Given the description of an element on the screen output the (x, y) to click on. 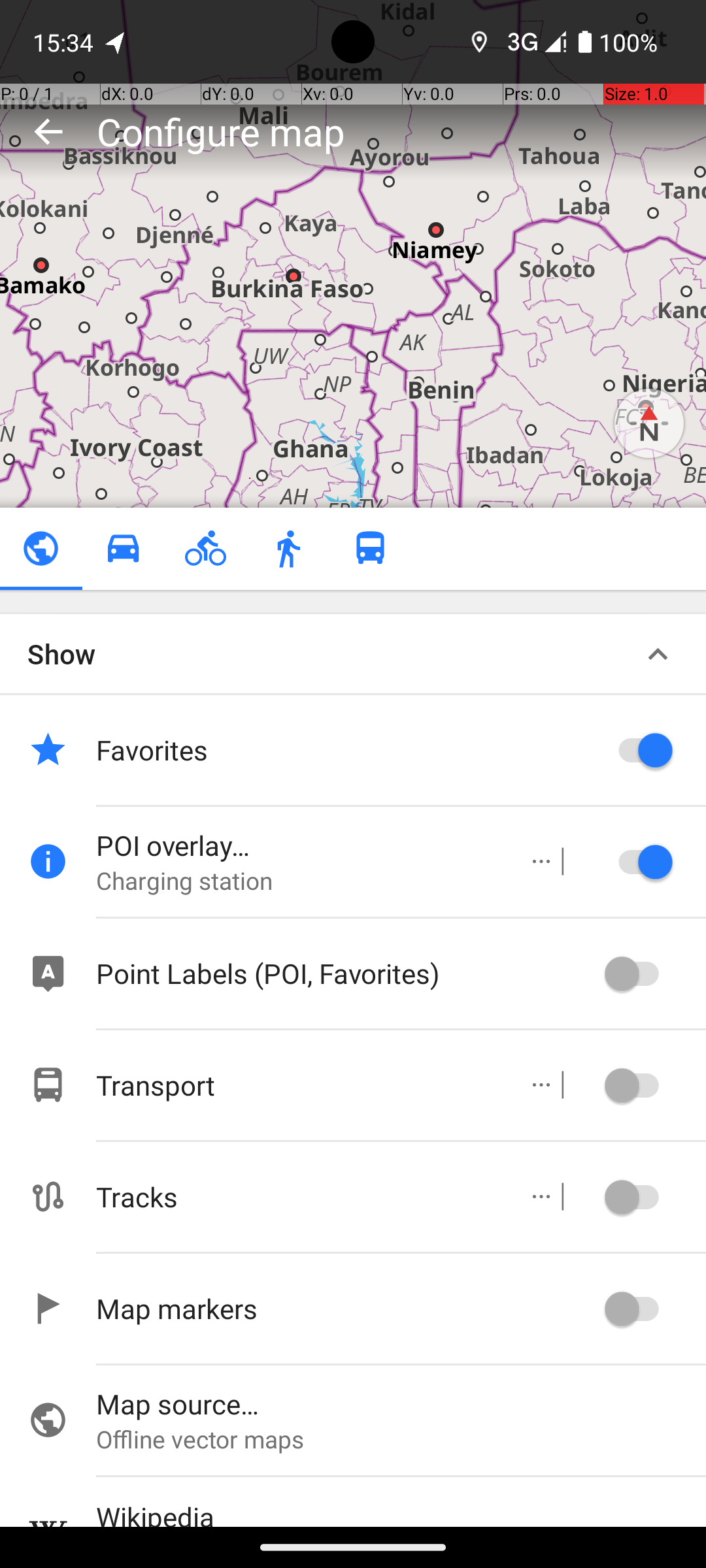
Back to map Element type: android.widget.ImageButton (48, 131)
Browse map checked Element type: android.widget.ImageView (40, 548)
Driving unchecked Element type: android.widget.ImageView (122, 548)
Cycling unchecked Element type: android.widget.ImageView (205, 548)
Show Element type: android.widget.TextView (61, 653)
Favorites Element type: android.widget.TextView (346, 749)
POI overlay… Element type: android.widget.TextView (298, 844)
Charging station Element type: android.widget.TextView (298, 880)
Point Labels (POI, Favorites) Element type: android.widget.TextView (346, 972)
Transport Element type: android.widget.TextView (298, 1084)
Tracks Element type: android.widget.TextView (298, 1196)
Map markers Element type: android.widget.TextView (346, 1307)
Map source… Element type: android.widget.TextView (401, 1403)
Offline vector maps Element type: android.widget.TextView (401, 1438)
Wikipedia Element type: android.widget.TextView (401, 1512)
